Given the description of an element on the screen output the (x, y) to click on. 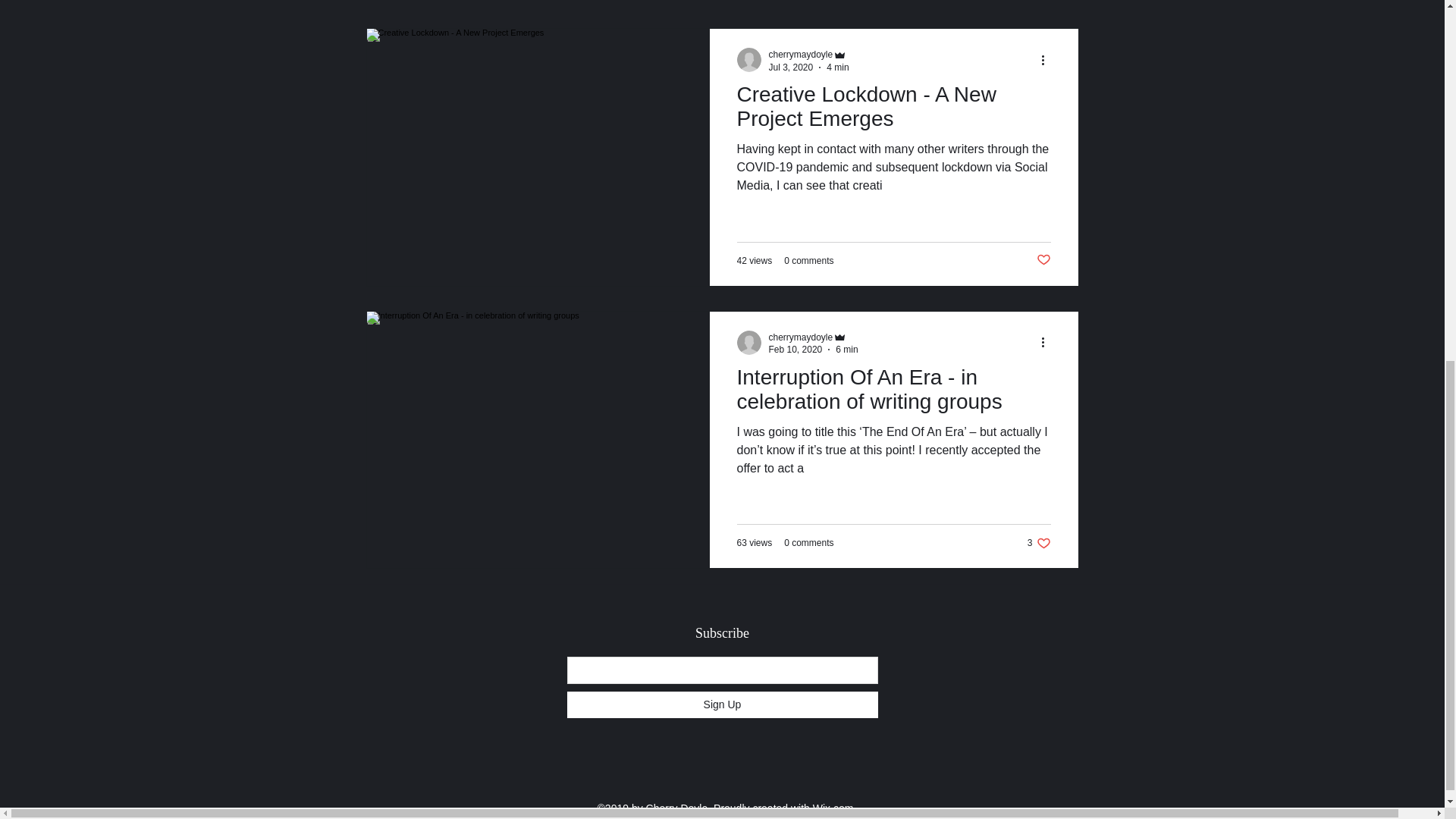
Interruption Of An Era - in celebration of writing groups (893, 392)
cherrymaydoyle (800, 337)
0 comments (808, 542)
6 min (846, 348)
cherrymaydoyle (800, 54)
Feb 10, 2020 (795, 348)
Creative Lockdown - A New Project Emerges (893, 110)
Sign Up (722, 704)
Jul 3, 2020 (790, 67)
4 min (837, 67)
0 comments (1039, 542)
Post not marked as liked (808, 259)
